Given the description of an element on the screen output the (x, y) to click on. 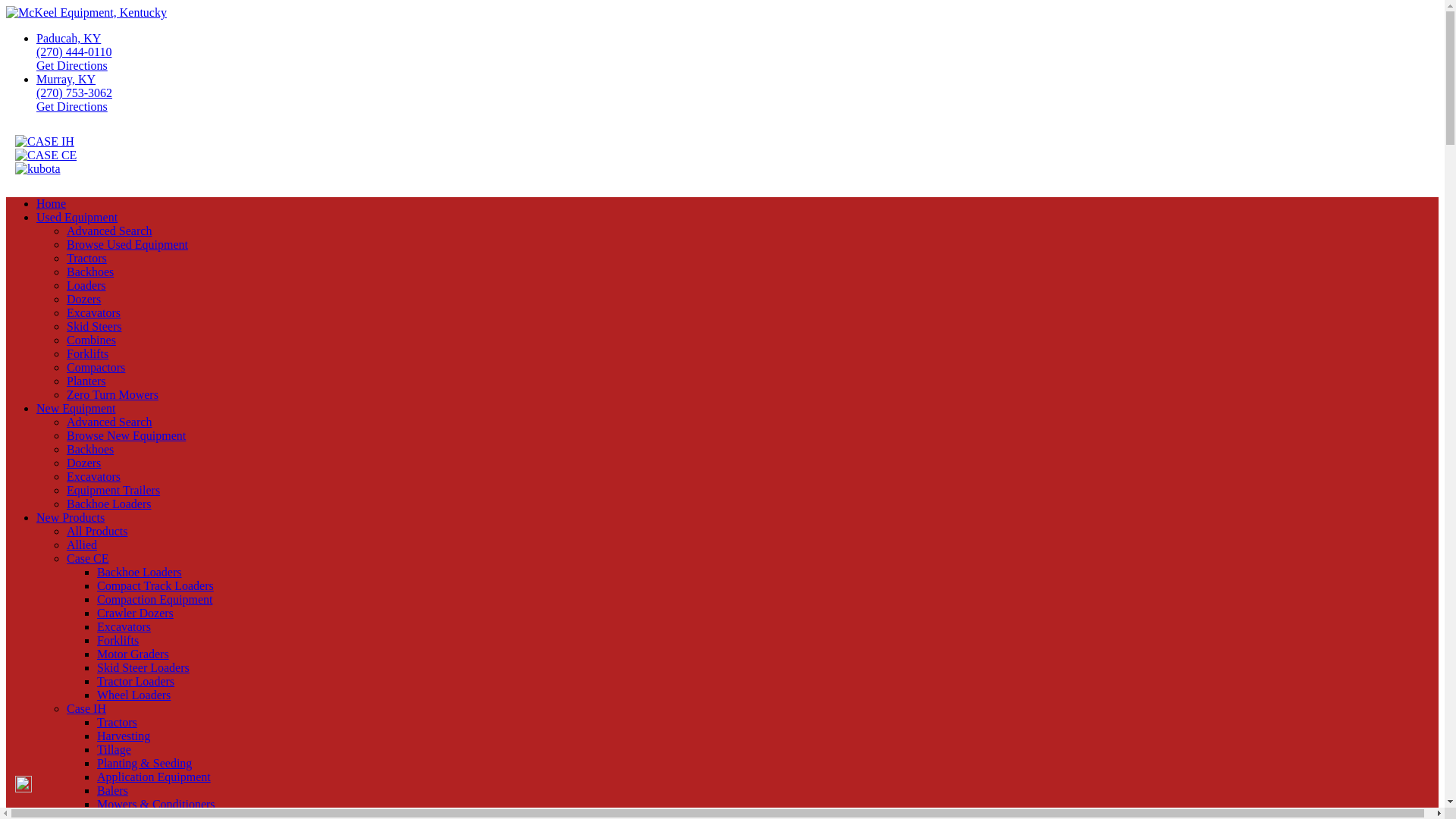
Equipment Trailers (113, 490)
Case CE (87, 558)
Get Directions (71, 106)
Combines (91, 339)
kubota (37, 169)
Backhoe Loaders (108, 503)
Home (50, 203)
Backhoes (89, 271)
Compactors (95, 367)
Paducah, KY (68, 38)
Tractors (86, 257)
Excavators (93, 312)
Dozers (83, 462)
Skid Steers (93, 326)
